Given the description of an element on the screen output the (x, y) to click on. 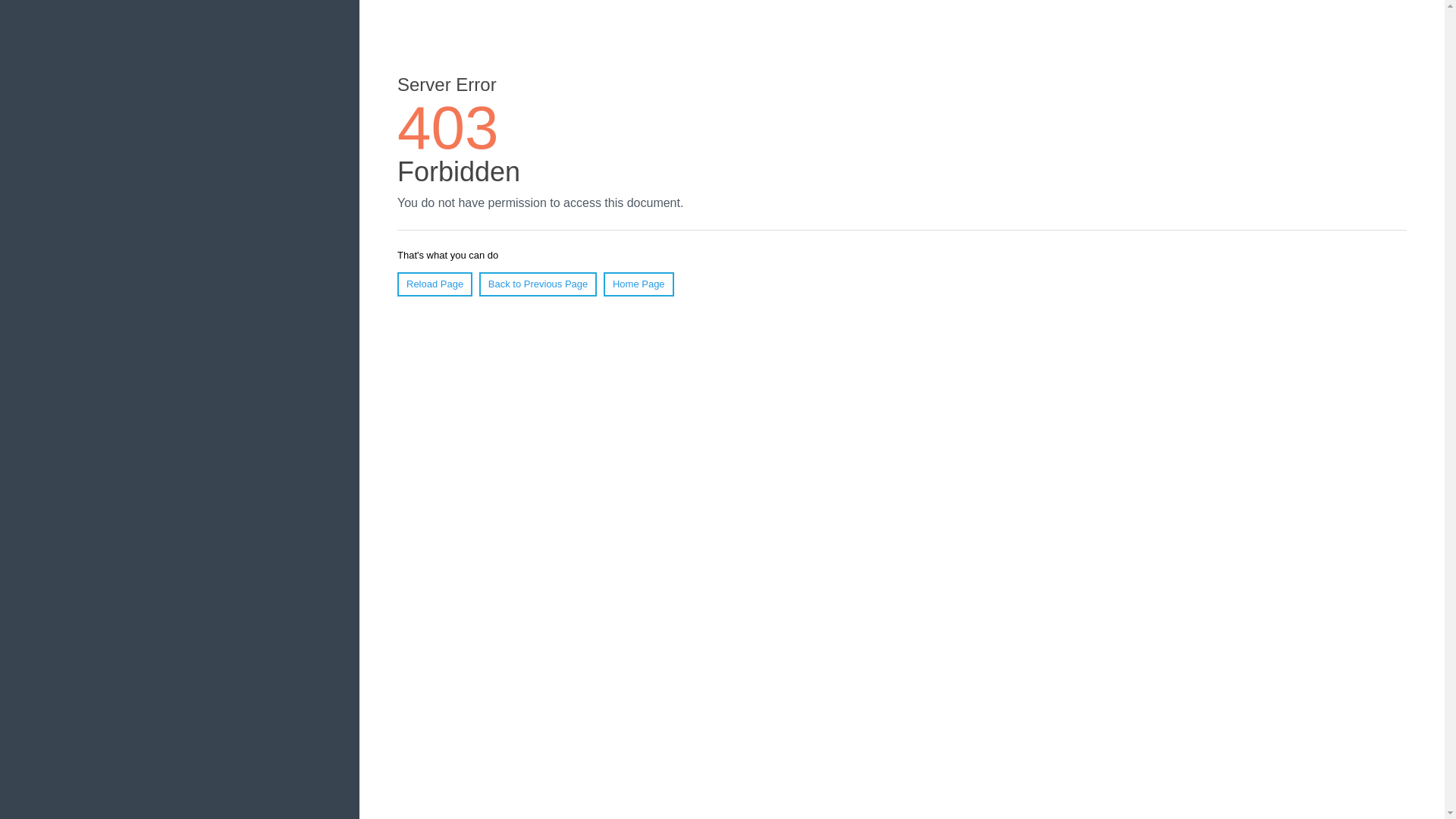
Home Page (639, 283)
Back to Previous Page (537, 283)
Reload Page (434, 283)
